Given the description of an element on the screen output the (x, y) to click on. 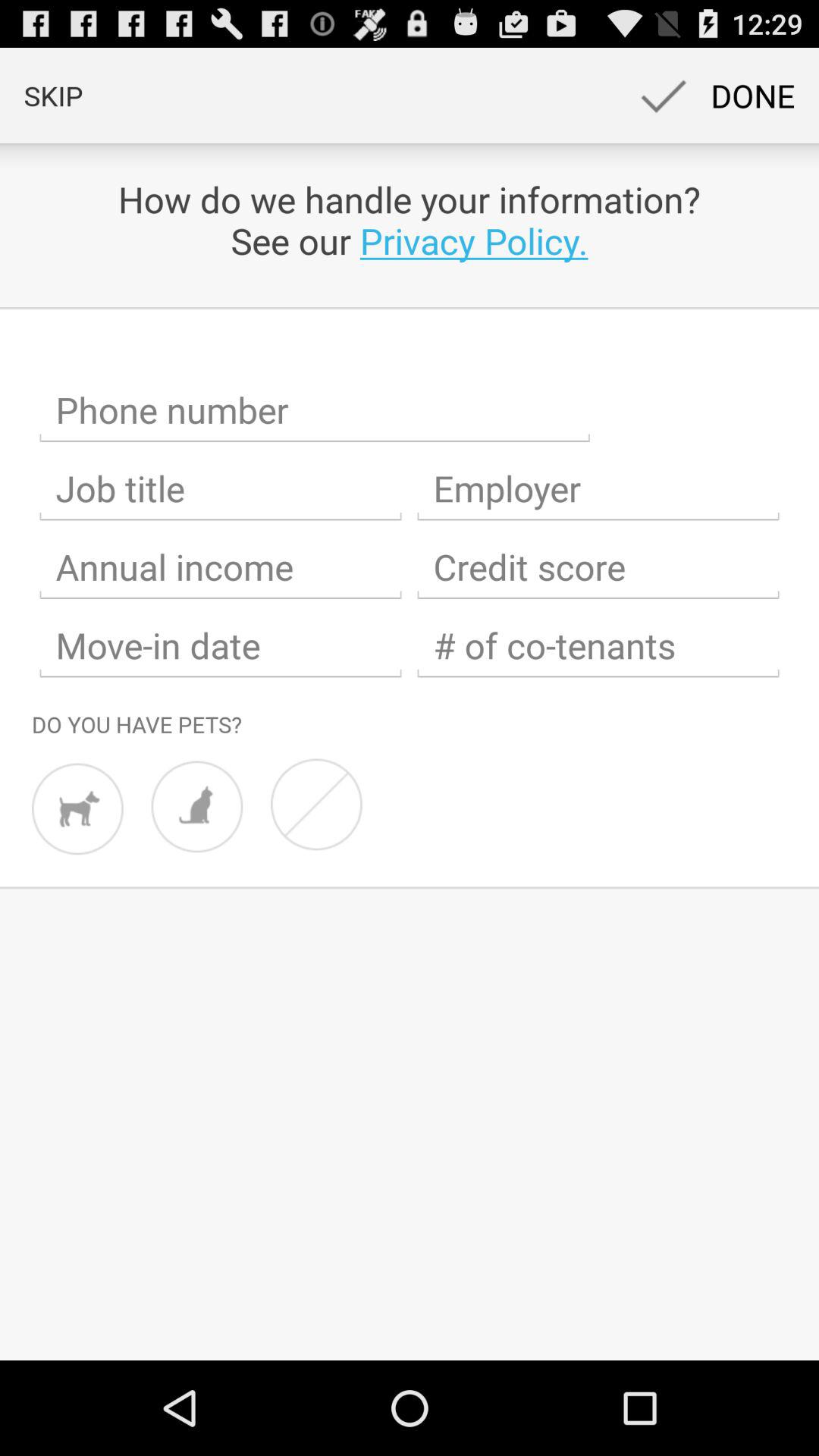
no pets (316, 804)
